Given the description of an element on the screen output the (x, y) to click on. 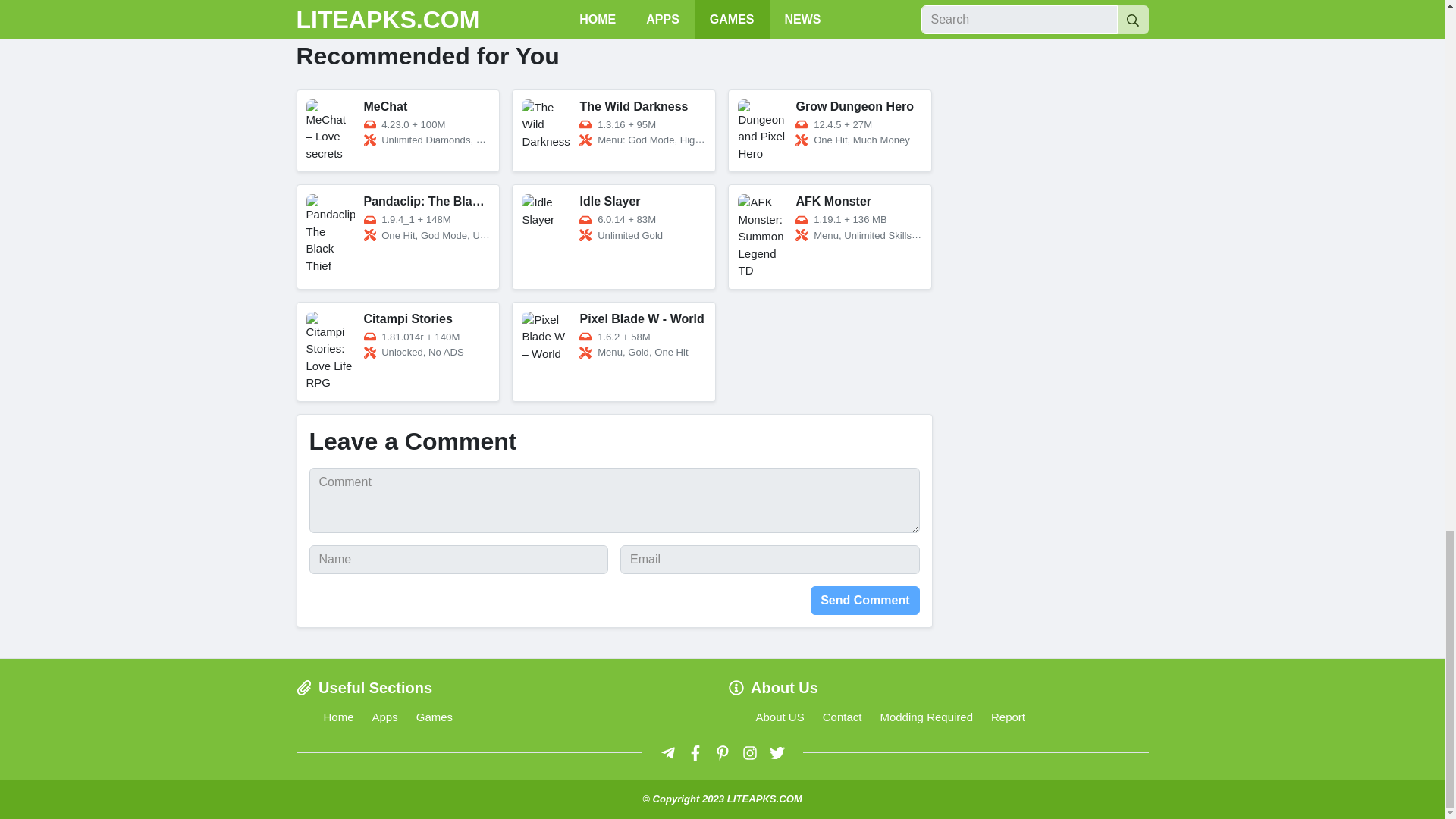
MeChat (397, 130)
Send Comment (864, 600)
Grow Dungeon Hero (829, 130)
AFK Monster: Summon Legend TD (829, 236)
Citampi Stories: Love Life RPG (397, 352)
Idle Slayer (614, 236)
Pandaclip: The Black Thief (397, 236)
The Wild Darkness (614, 130)
